Given the description of an element on the screen output the (x, y) to click on. 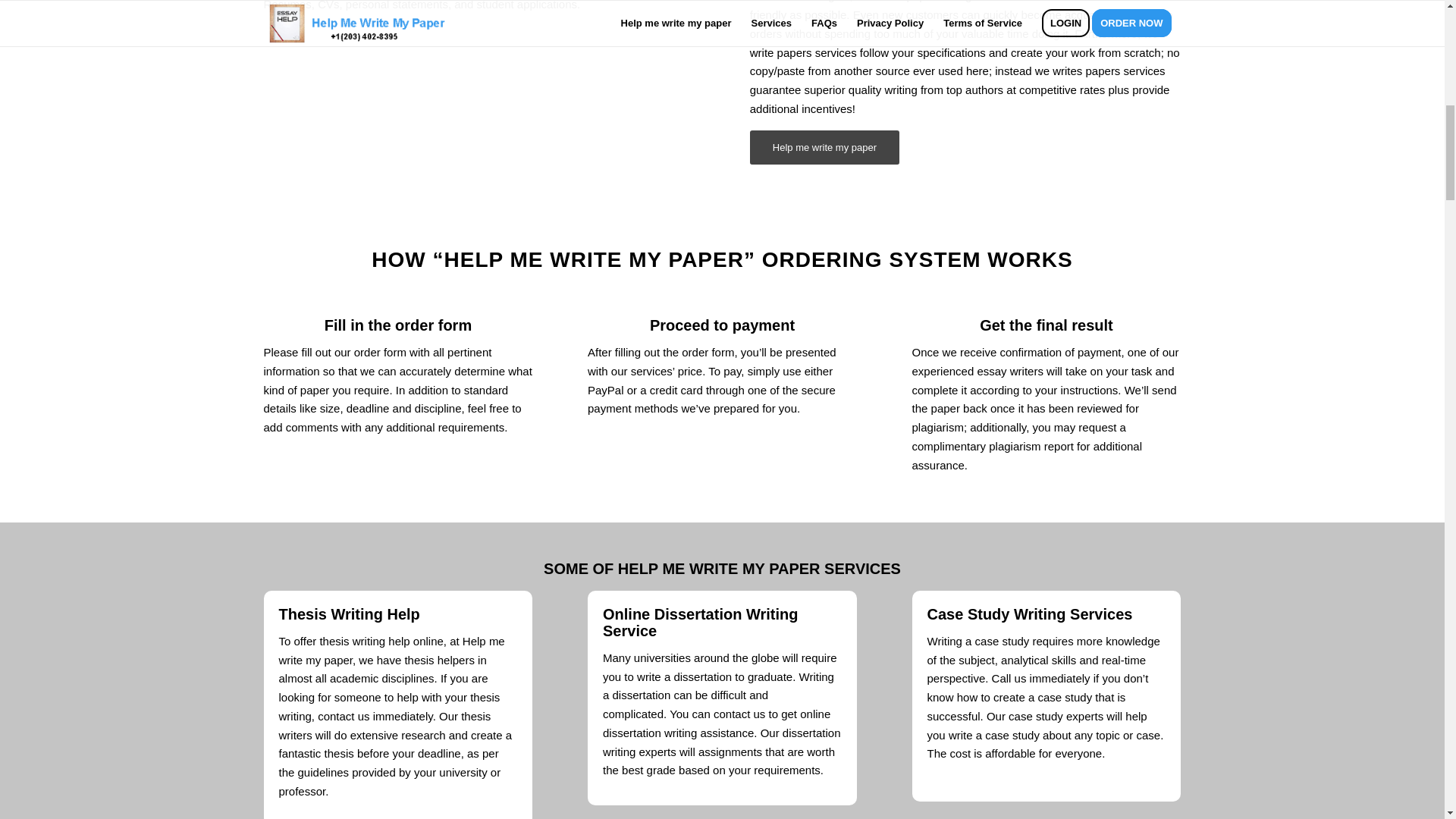
Help me write my paper (824, 147)
